Given the description of an element on the screen output the (x, y) to click on. 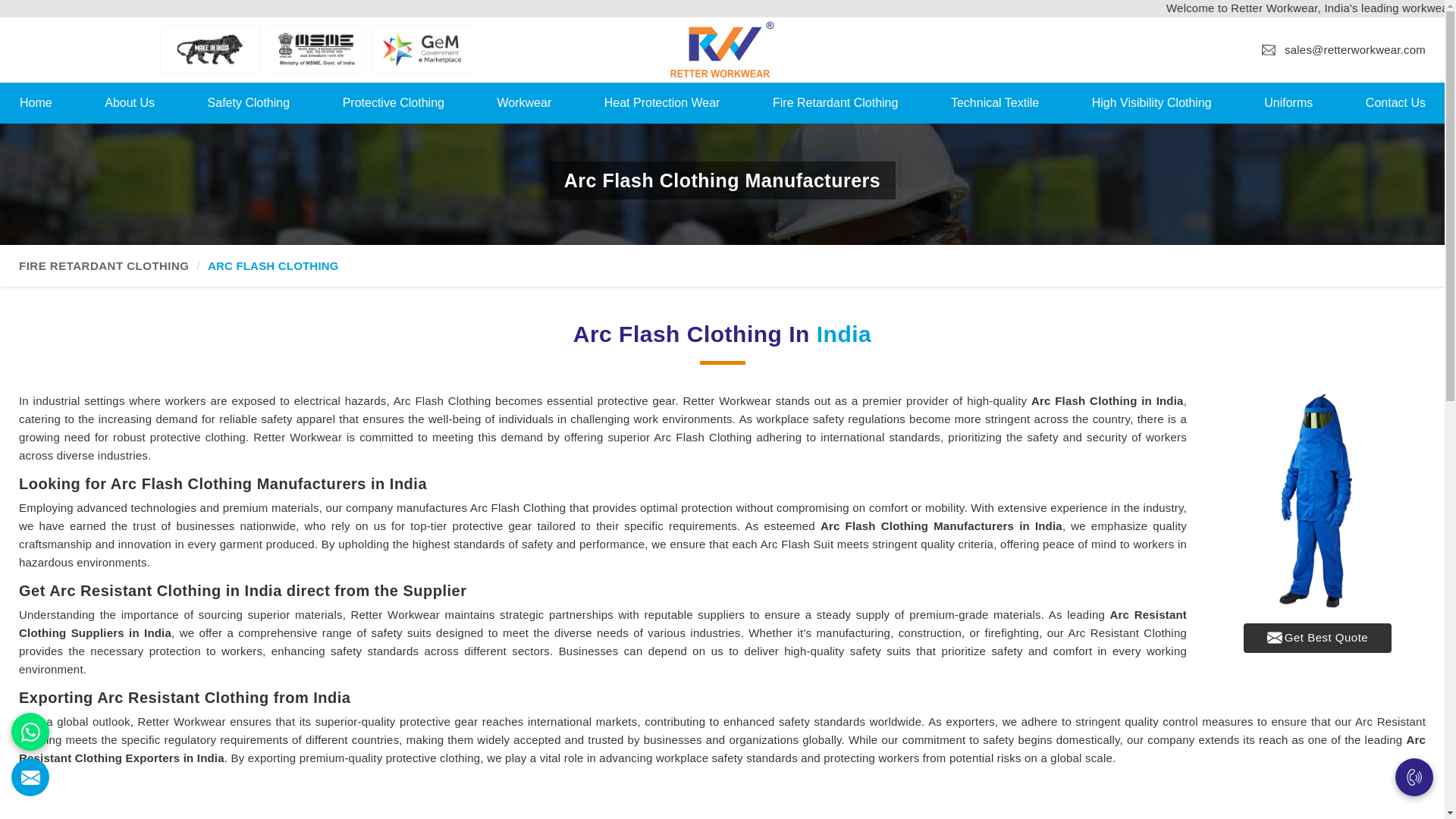
Make In India (209, 49)
Retter Workwear (721, 49)
Protective Clothing (393, 101)
Safety Clothing (248, 101)
MSME (316, 49)
Safety Clothing (248, 101)
Workwear (523, 101)
Retter Workwear (721, 49)
About Us (129, 101)
About Us (129, 101)
